Given the description of an element on the screen output the (x, y) to click on. 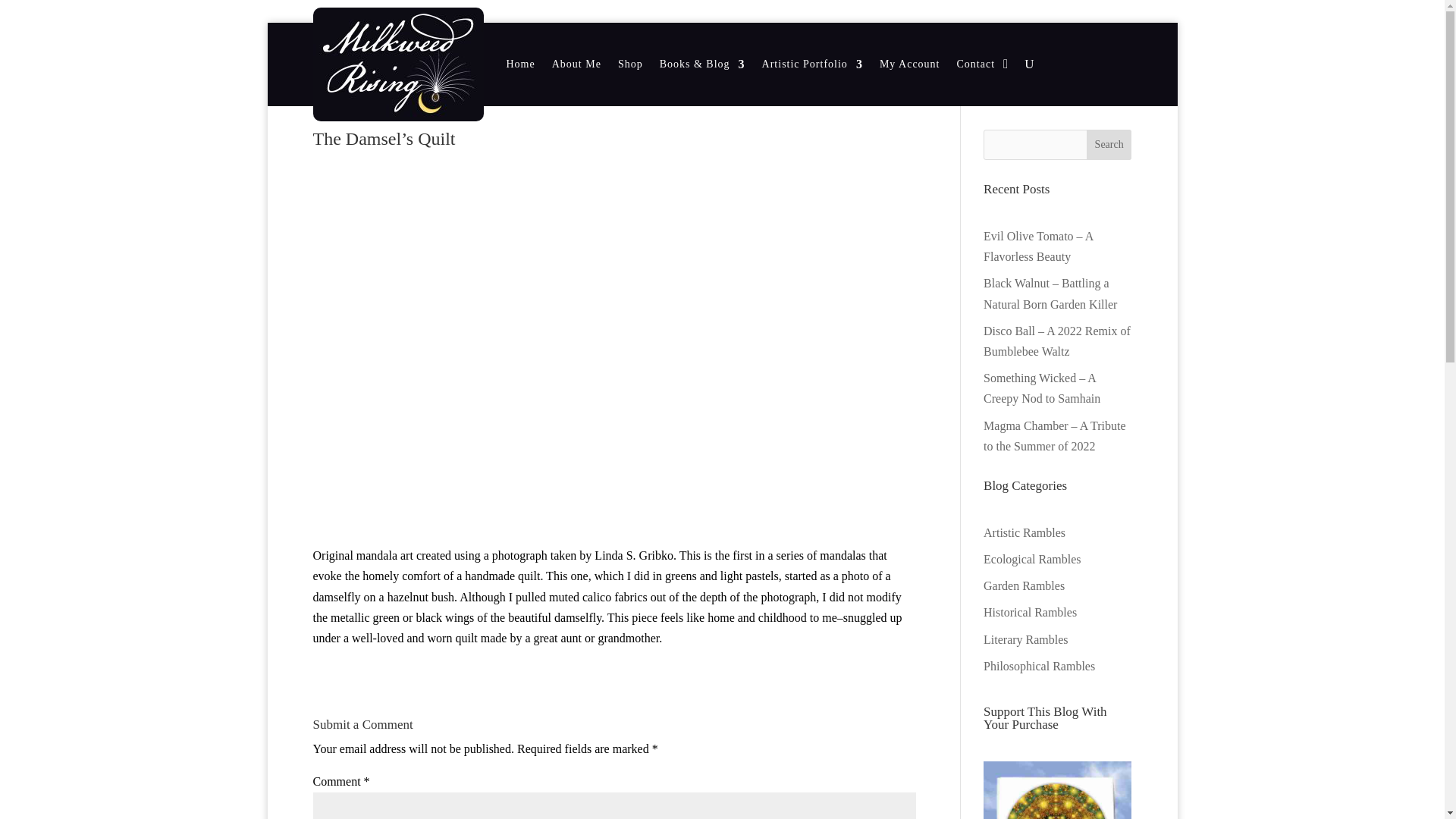
Garden Rambles (1024, 585)
Artistic Rambles (1024, 532)
Ecological Rambles (1032, 558)
Philosophical Rambles (1039, 666)
Search (1109, 144)
Artistic Portfolio (812, 64)
Monarch Butterfly Art Card - Peering In (1057, 790)
Historical Rambles (1030, 612)
Literary Rambles (1026, 639)
